Given the description of an element on the screen output the (x, y) to click on. 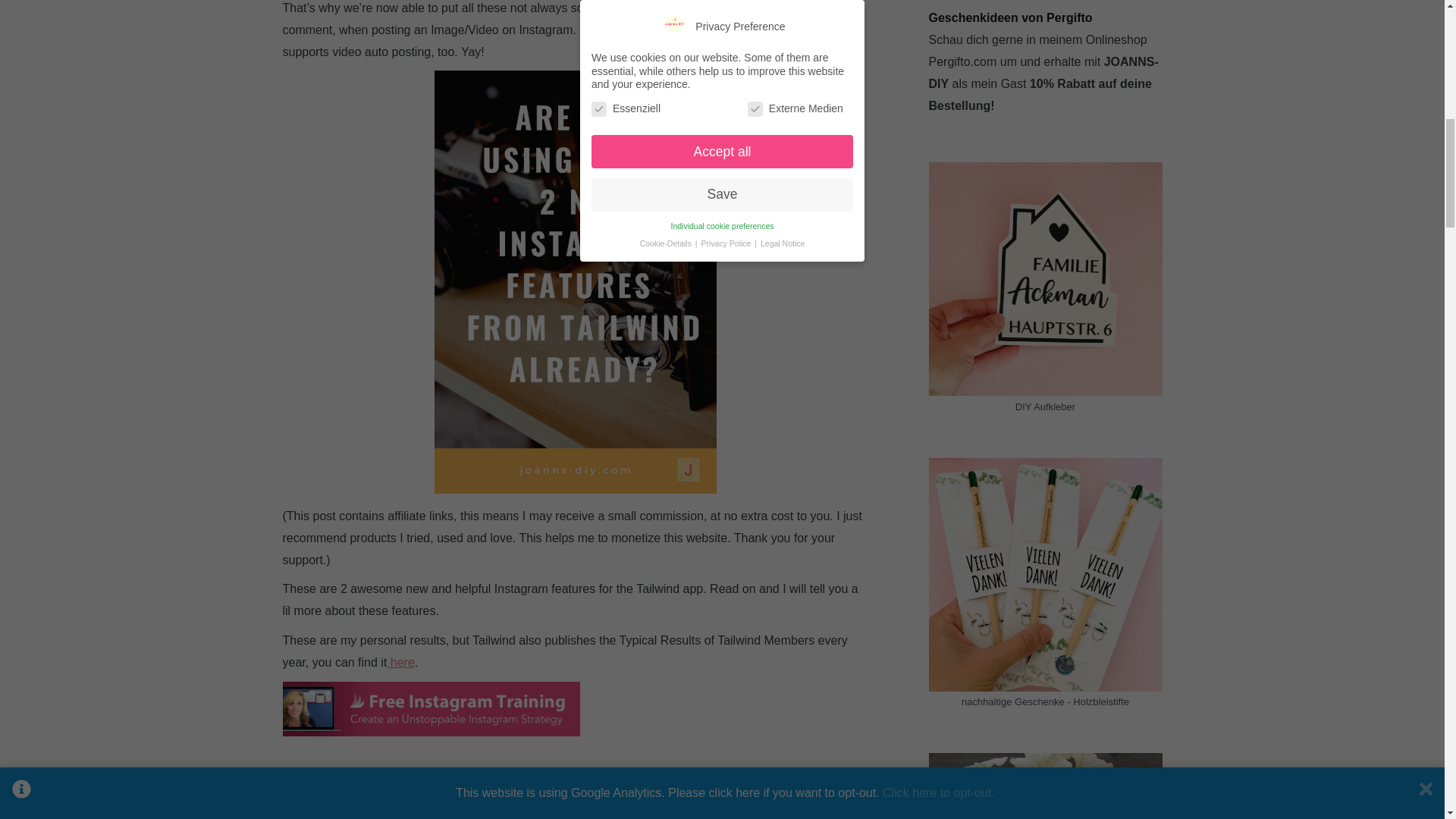
here (400, 662)
